Given the description of an element on the screen output the (x, y) to click on. 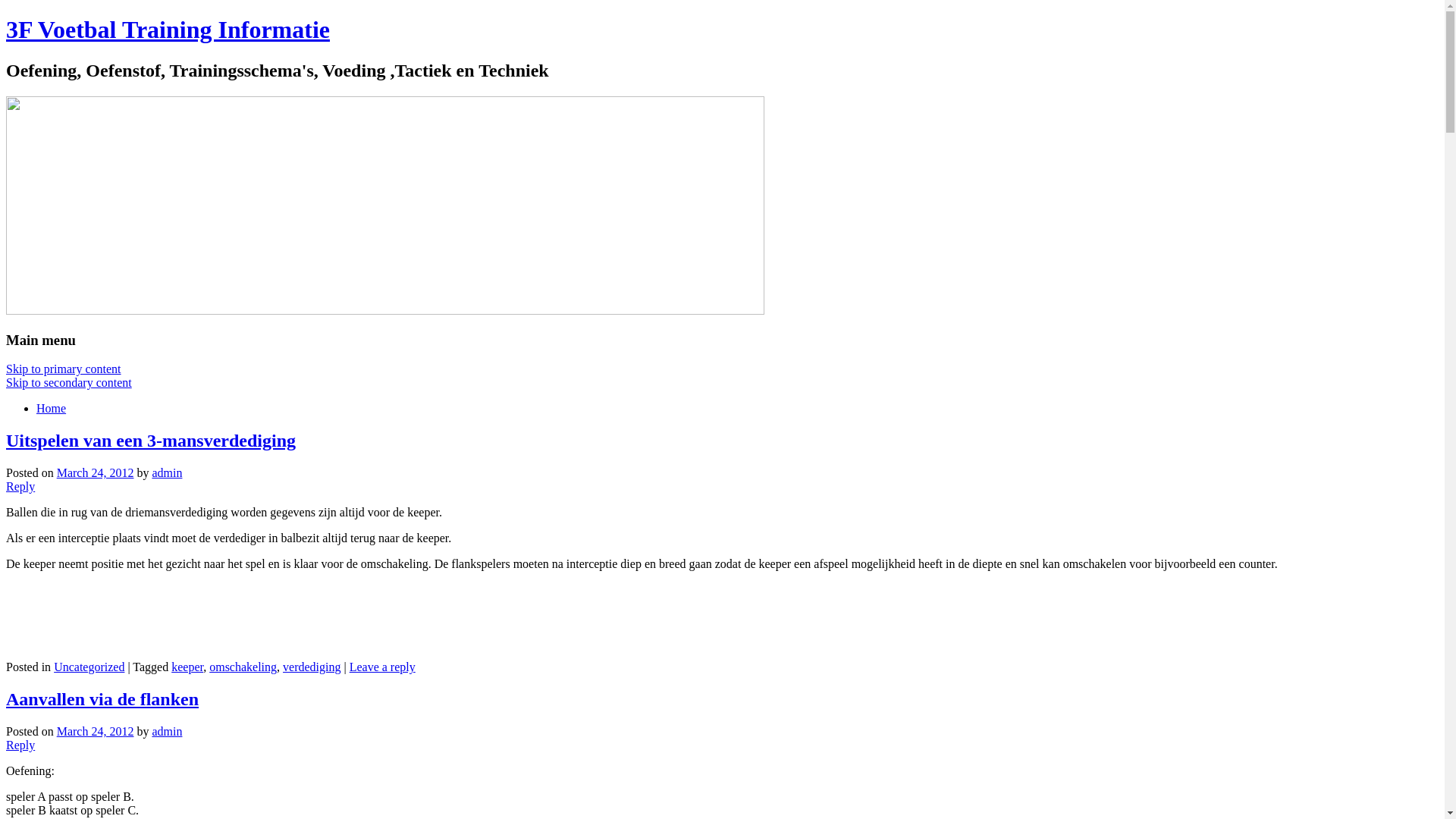
Aanvallen via de flanken Element type: text (102, 699)
verdediging Element type: text (311, 666)
Uncategorized Element type: text (88, 666)
keeper Element type: text (187, 666)
Skip to primary content Element type: text (63, 368)
Skip to secondary content Element type: text (68, 382)
Uitspelen van een 3-mansverdediging Element type: text (150, 440)
March 24, 2012 Element type: text (95, 730)
March 24, 2012 Element type: text (95, 472)
3F Voetbal Training Informatie Element type: text (167, 29)
admin Element type: text (166, 472)
Reply Element type: text (20, 744)
admin Element type: text (166, 730)
omschakeling Element type: text (242, 666)
Reply Element type: text (20, 486)
Leave a reply Element type: text (382, 666)
Home Element type: text (50, 407)
